Given the description of an element on the screen output the (x, y) to click on. 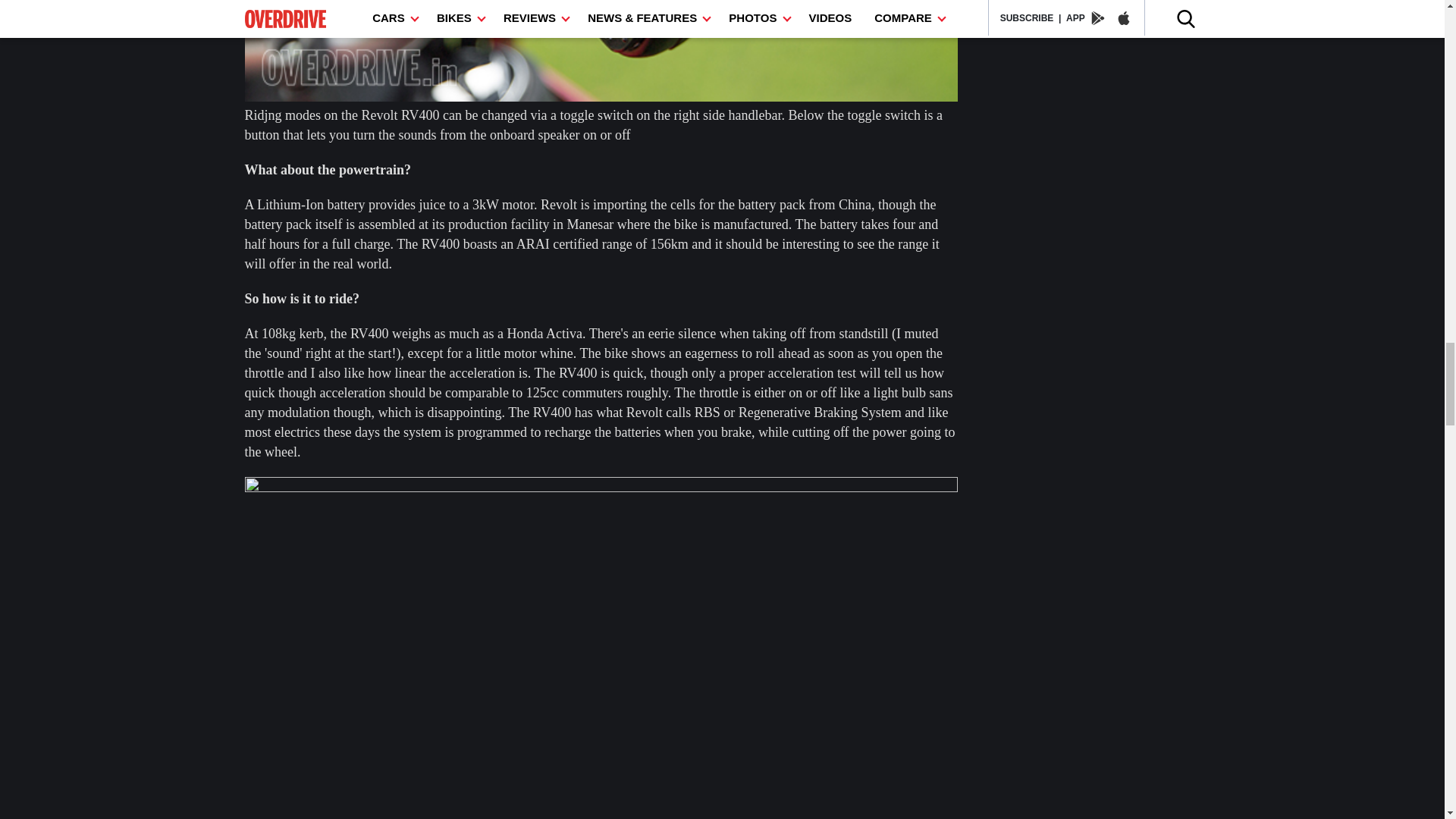
Revolt RV400 electric motorcycle - first ride review (600, 50)
